Given the description of an element on the screen output the (x, y) to click on. 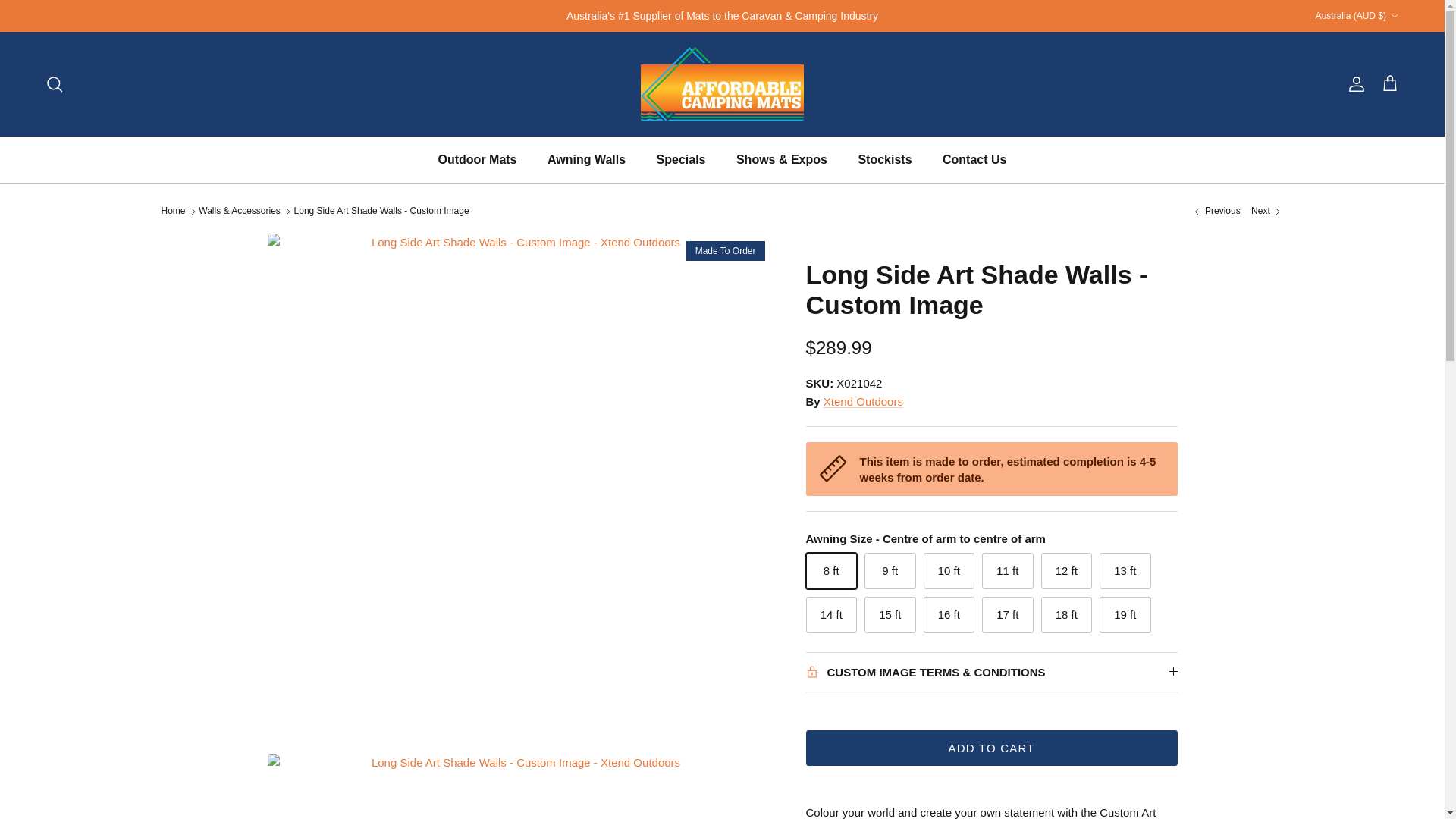
Awning Walls (586, 159)
Outdoor Mats (478, 159)
Search (54, 84)
Account (1352, 84)
Long Side Art Shade Walls - Aus Map Edition (1215, 210)
Thule Rain Blocker G1 Side Wall (1266, 210)
Affordable Camping Mats (721, 83)
Cart (1389, 84)
